Given the description of an element on the screen output the (x, y) to click on. 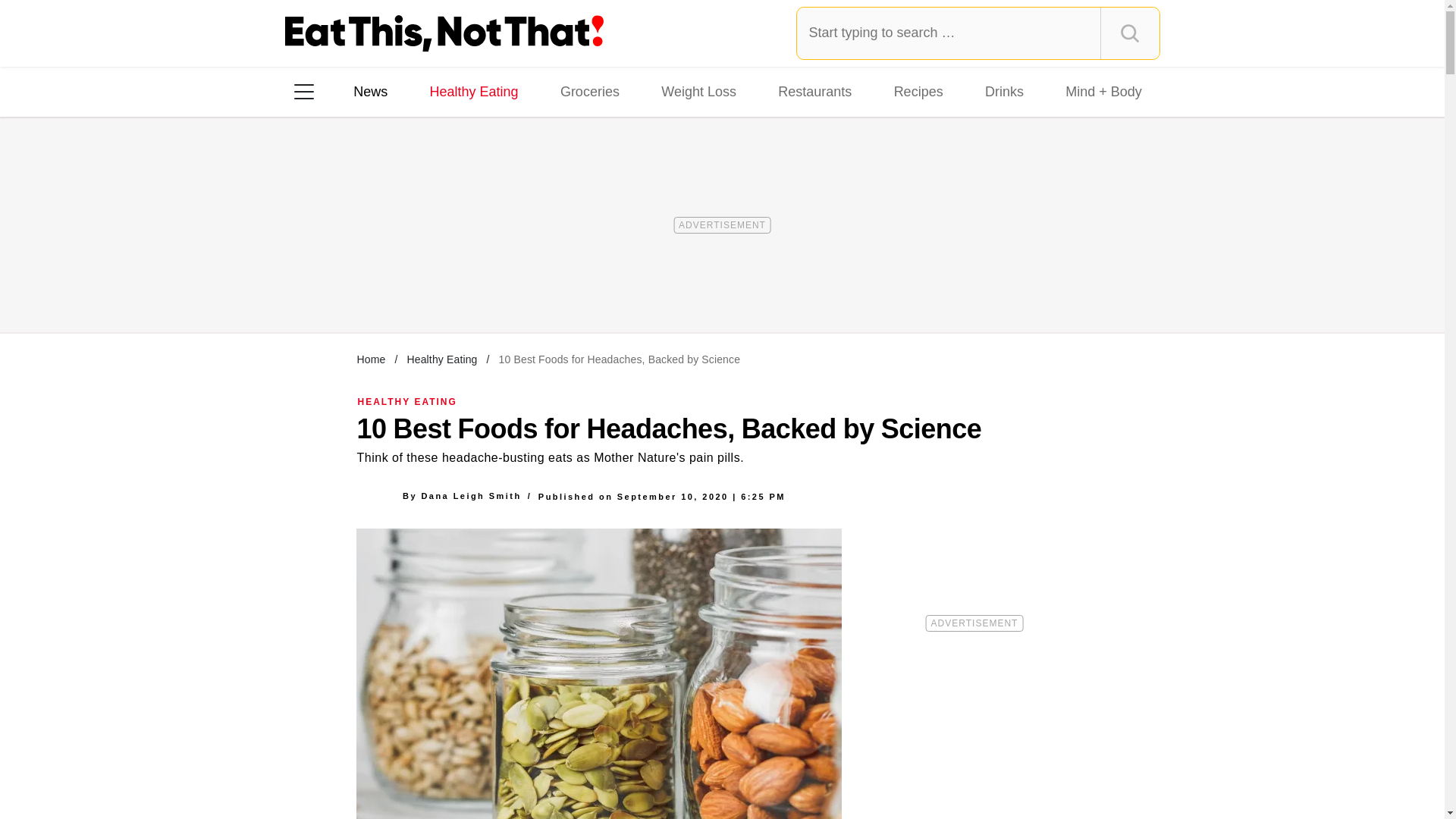
Groceries (590, 91)
Facebook (314, 287)
HEALTHY EATING (407, 401)
Facebook (314, 287)
Weight Loss (698, 91)
Healthy Eating (441, 358)
Healthy Eating (473, 91)
Instagram (357, 287)
TikTok (399, 287)
TikTok (399, 287)
